Given the description of an element on the screen output the (x, y) to click on. 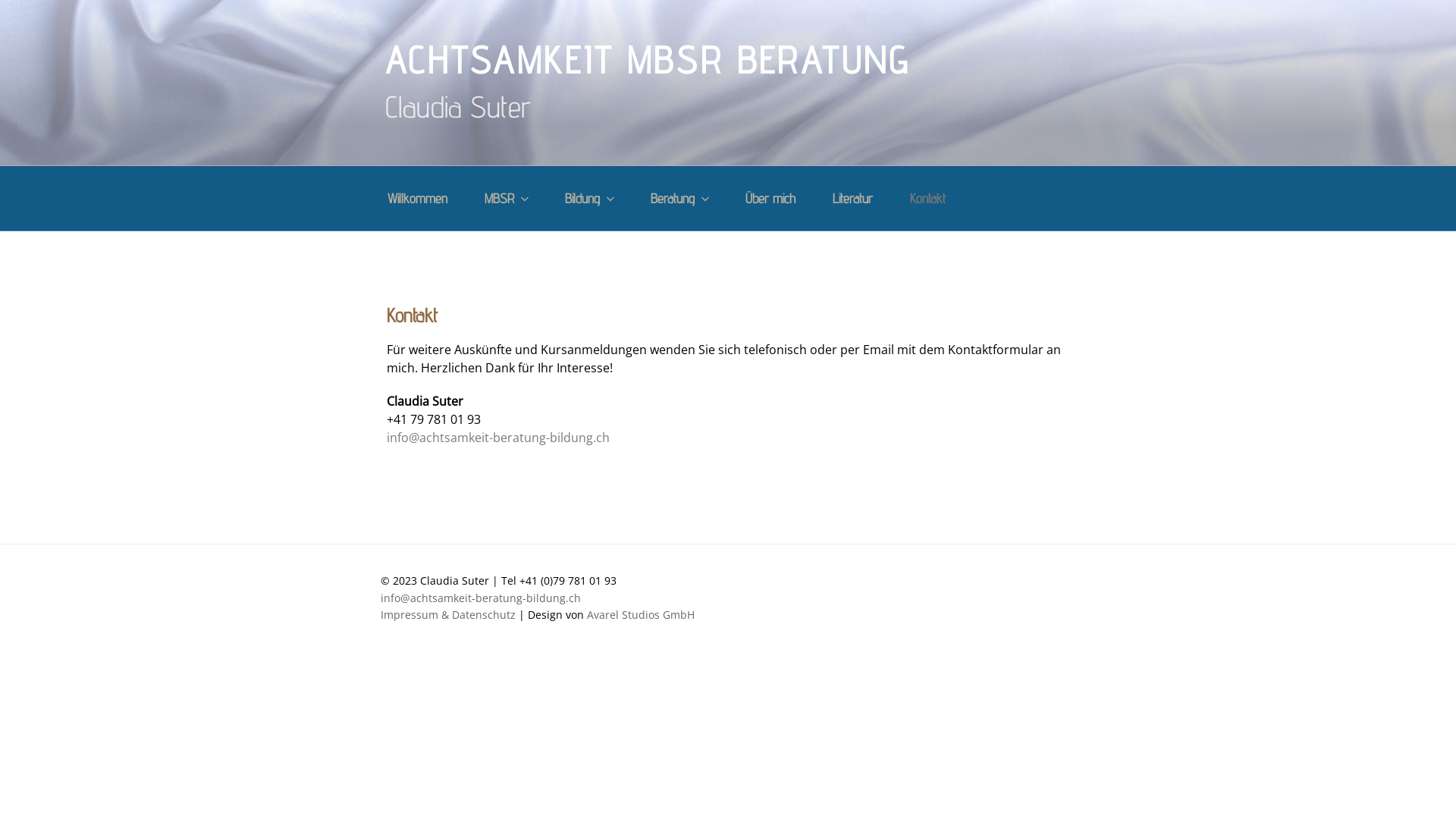
info@achtsamkeit-beratung-bildung.ch Element type: text (497, 437)
info@achtsamkeit-beratung-bildung.ch Element type: text (480, 597)
Beratung Element type: text (678, 198)
Bildung Element type: text (588, 198)
Impressum & Datenschutz Element type: text (447, 614)
ACHTSAMKEIT MBSR BERATUNG Element type: text (647, 59)
Avarel Studios GmbH Element type: text (640, 614)
Willkommen Element type: text (417, 198)
Literatur Element type: text (852, 198)
MBSR Element type: text (505, 198)
Kontakt Element type: text (927, 198)
